Given the description of an element on the screen output the (x, y) to click on. 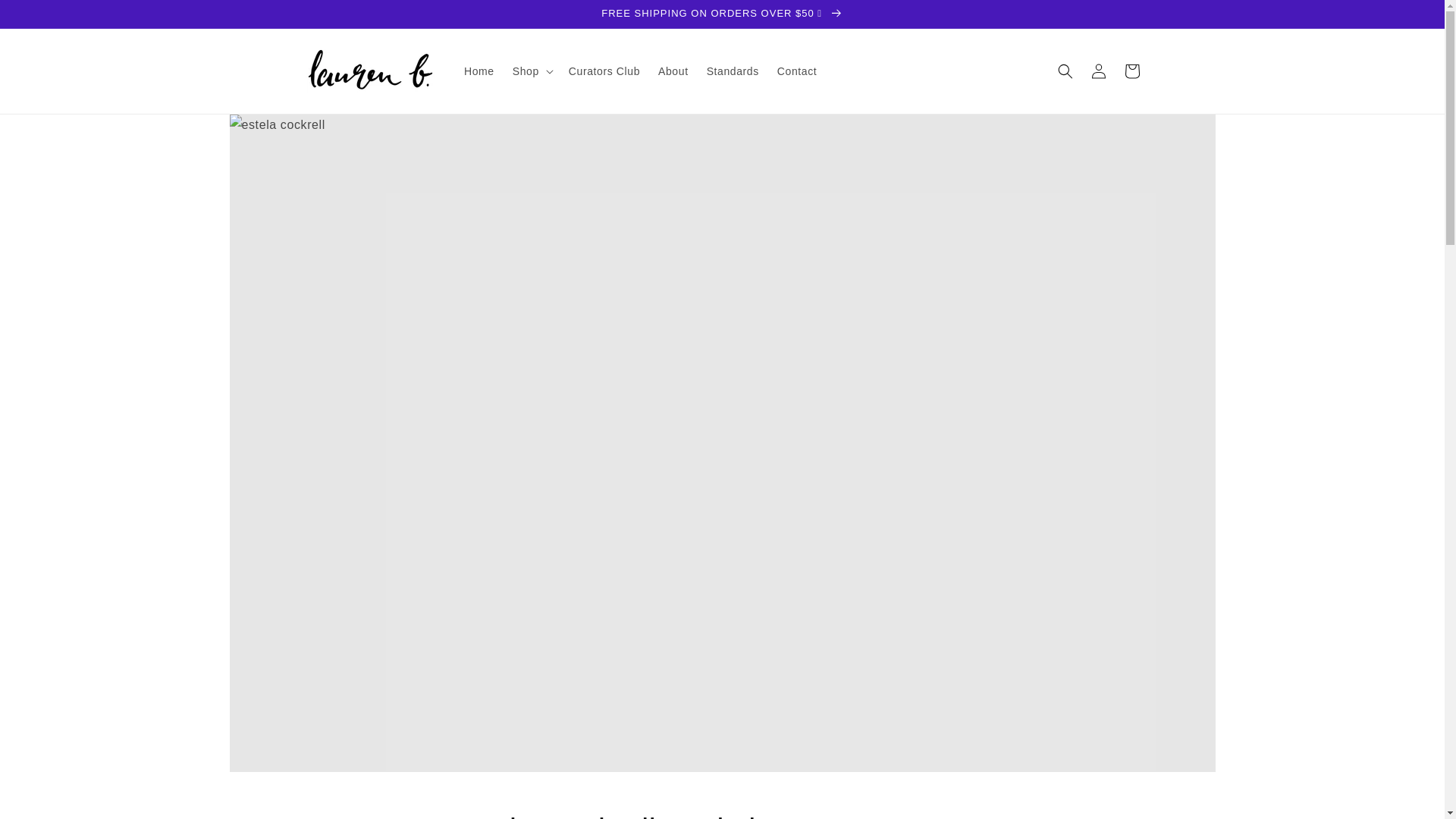
Skip to content (45, 17)
About (673, 70)
Home (478, 70)
Standards (732, 70)
Contact (796, 70)
Curators Club (604, 70)
